Given the description of an element on the screen output the (x, y) to click on. 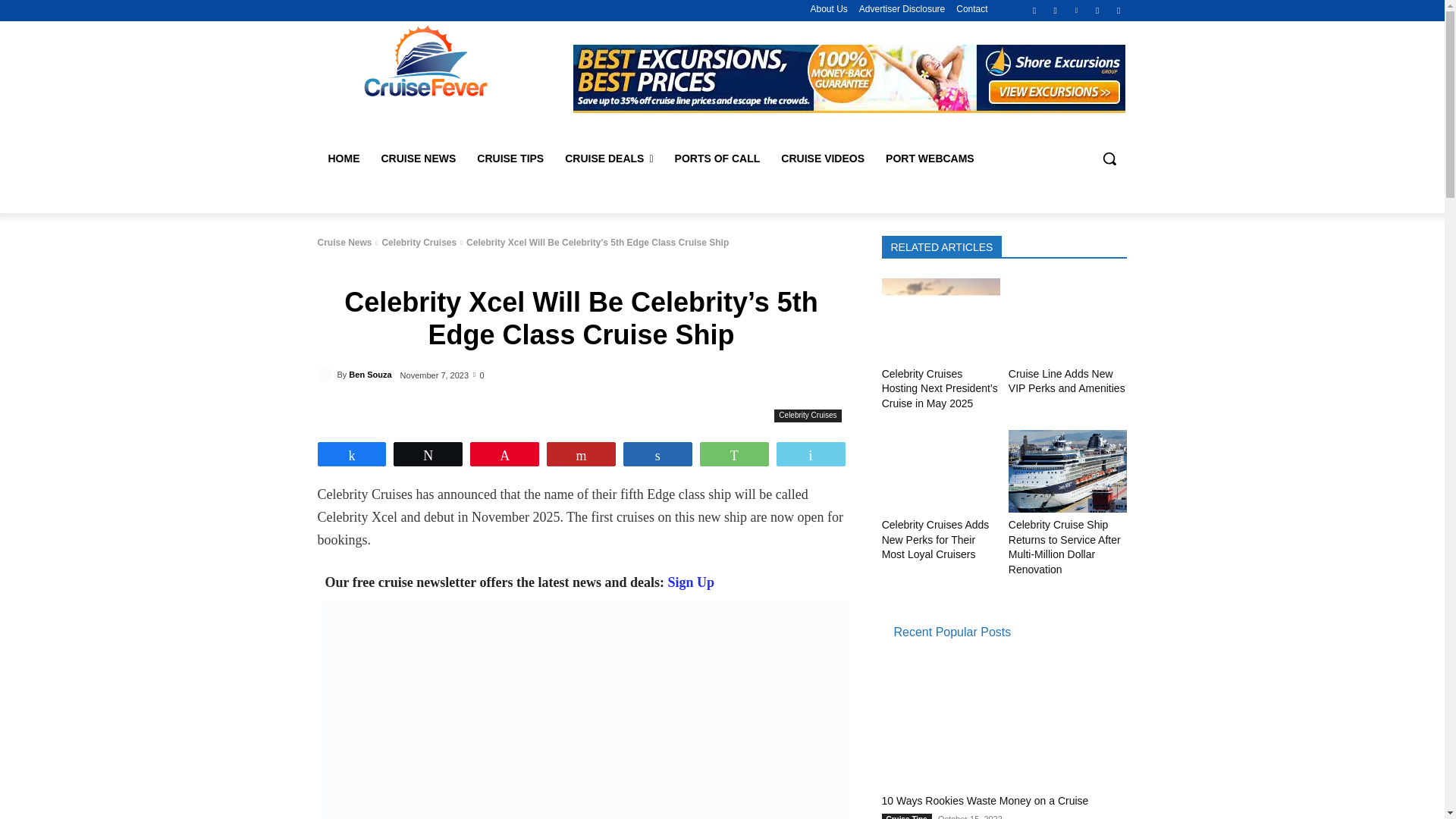
Contact (971, 9)
HOME (343, 158)
CRUISE DEALS (608, 158)
Twitter (1097, 9)
About Us (828, 9)
Advertiser Disclosure (901, 9)
CRUISE NEWS (417, 158)
Facebook (1034, 9)
Instagram (1055, 9)
CRUISE TIPS (509, 158)
Pinterest (1075, 9)
